Given the description of an element on the screen output the (x, y) to click on. 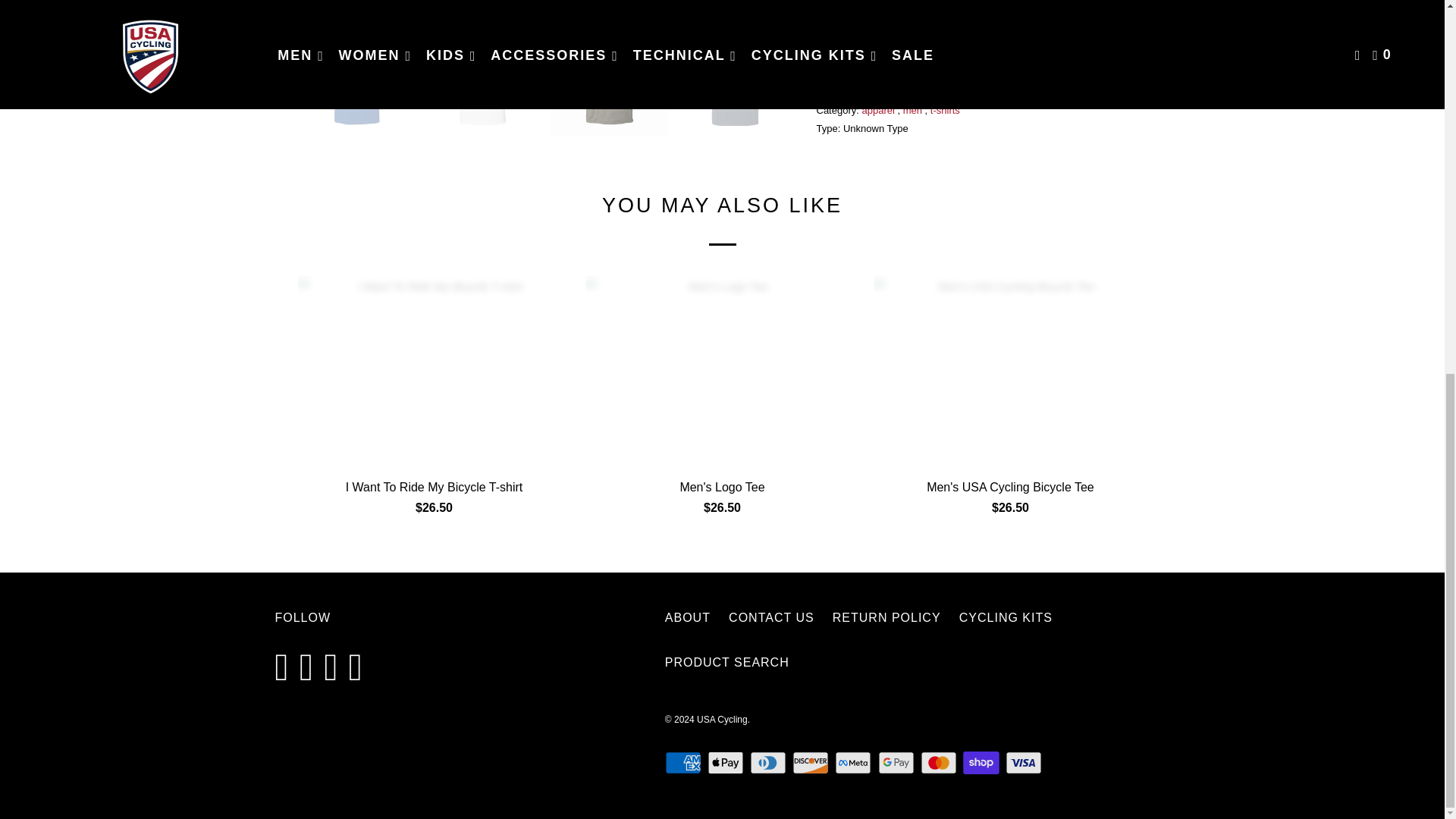
Mastercard (939, 762)
Apple Pay (726, 762)
Meta Pay (854, 762)
Discover (811, 762)
Google Pay (897, 762)
Men's T-Shirts (989, 92)
All Products (896, 92)
American Express (684, 762)
Visa (1025, 762)
